Given the description of an element on the screen output the (x, y) to click on. 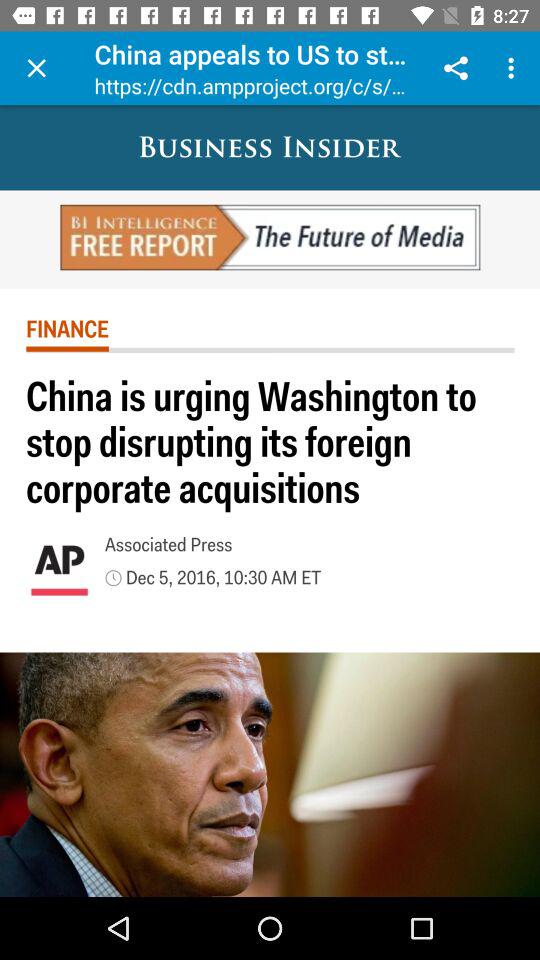
close item (36, 68)
